Given the description of an element on the screen output the (x, y) to click on. 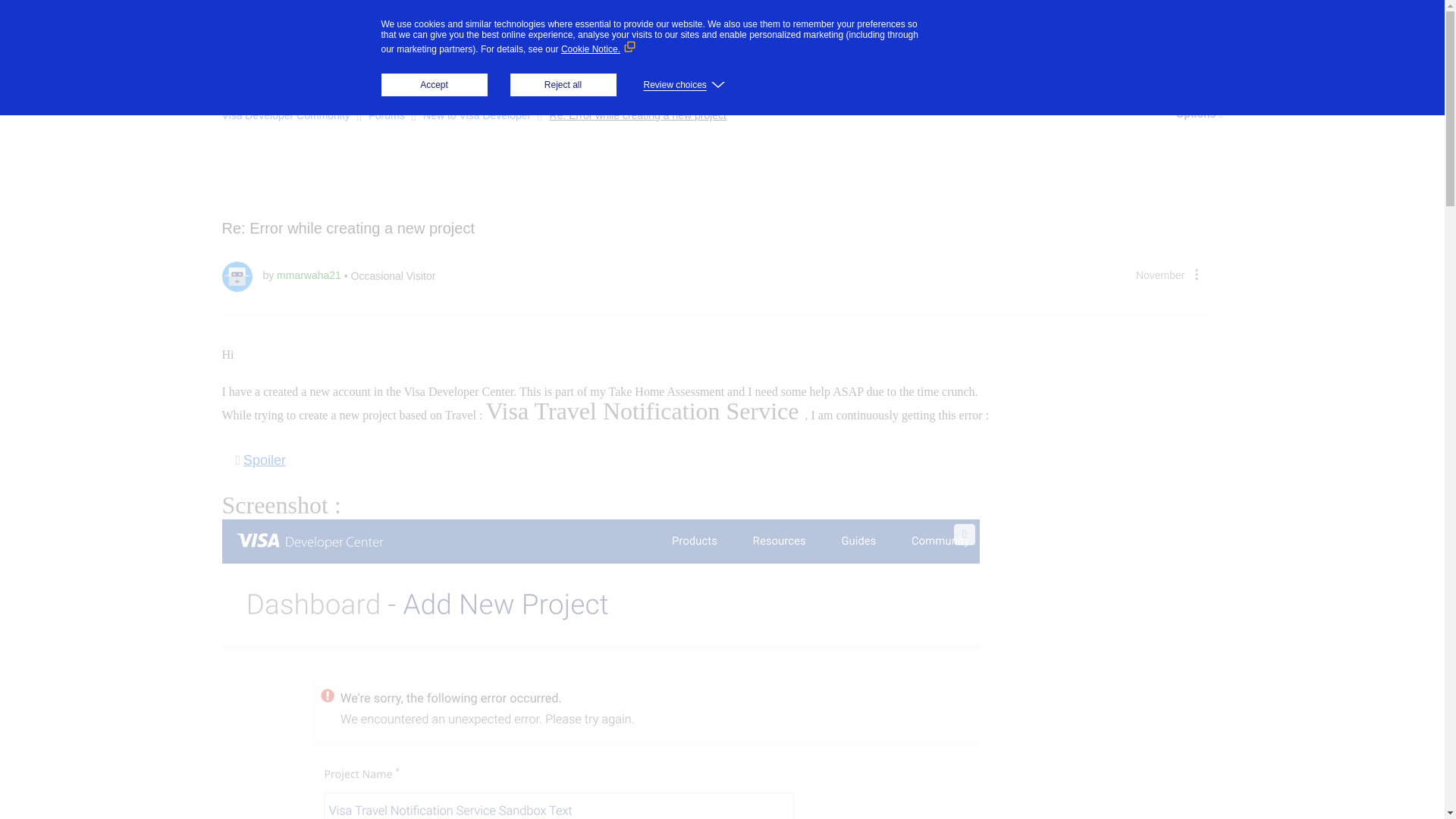
Show option menu (1198, 113)
Community Home (268, 67)
Webinars (550, 67)
Blogs (421, 67)
Posted on (1160, 274)
Products (453, 25)
Forums (359, 68)
Resources (624, 25)
Show option menu (1196, 273)
Tutorials (481, 67)
mmarwaha21 (236, 276)
